Given the description of an element on the screen output the (x, y) to click on. 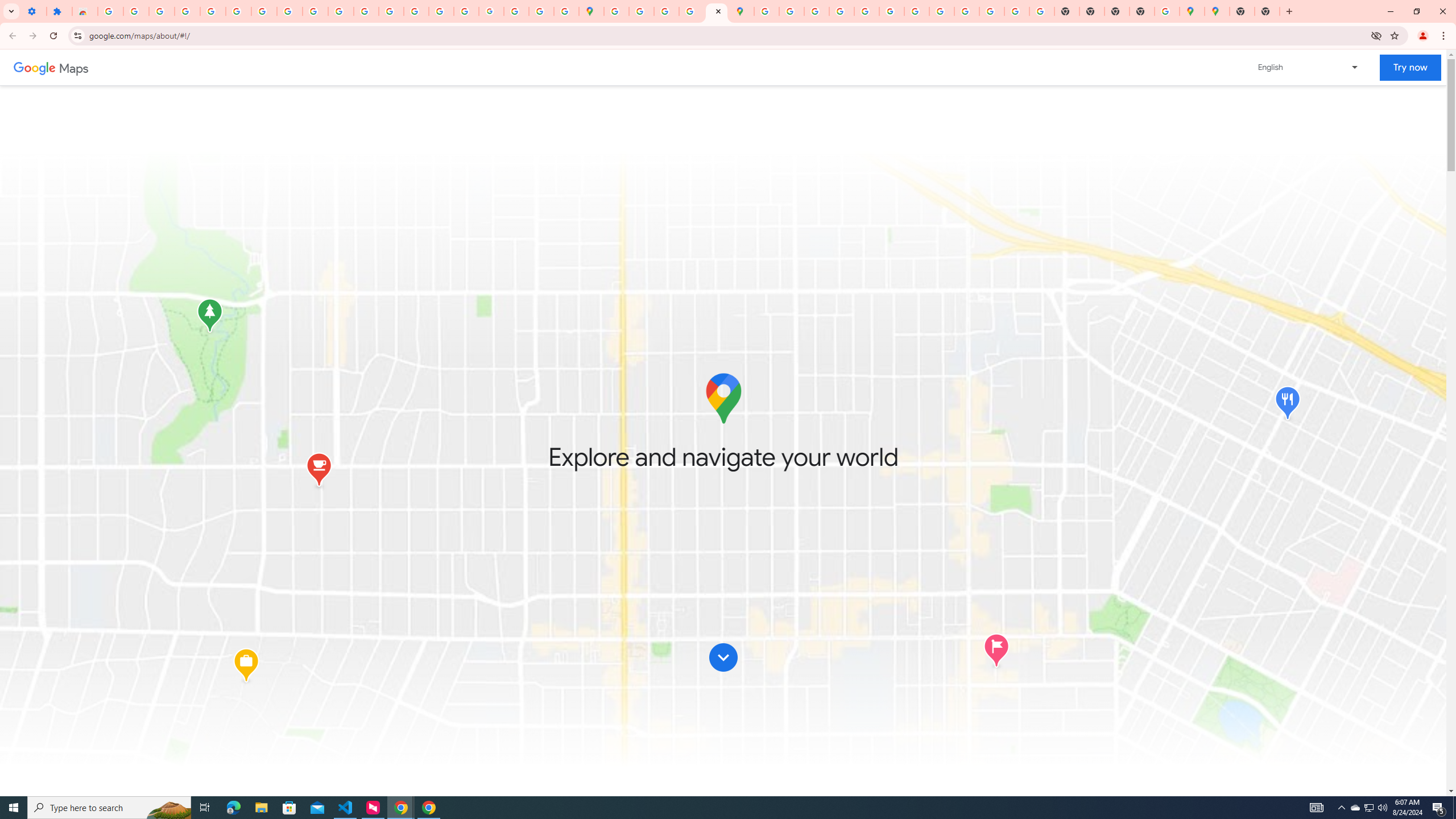
Privacy Help Center - Policies Help (391, 11)
New Tab (1141, 11)
Extensions (59, 11)
New Tab (1266, 11)
Sign in - Google Accounts (110, 11)
Sign in - Google Accounts (766, 11)
Google Maps logo (722, 398)
Try now (1409, 67)
Google Maps (590, 11)
Skip to Content (723, 660)
Privacy Help Center - Policies Help (841, 11)
